Given the description of an element on the screen output the (x, y) to click on. 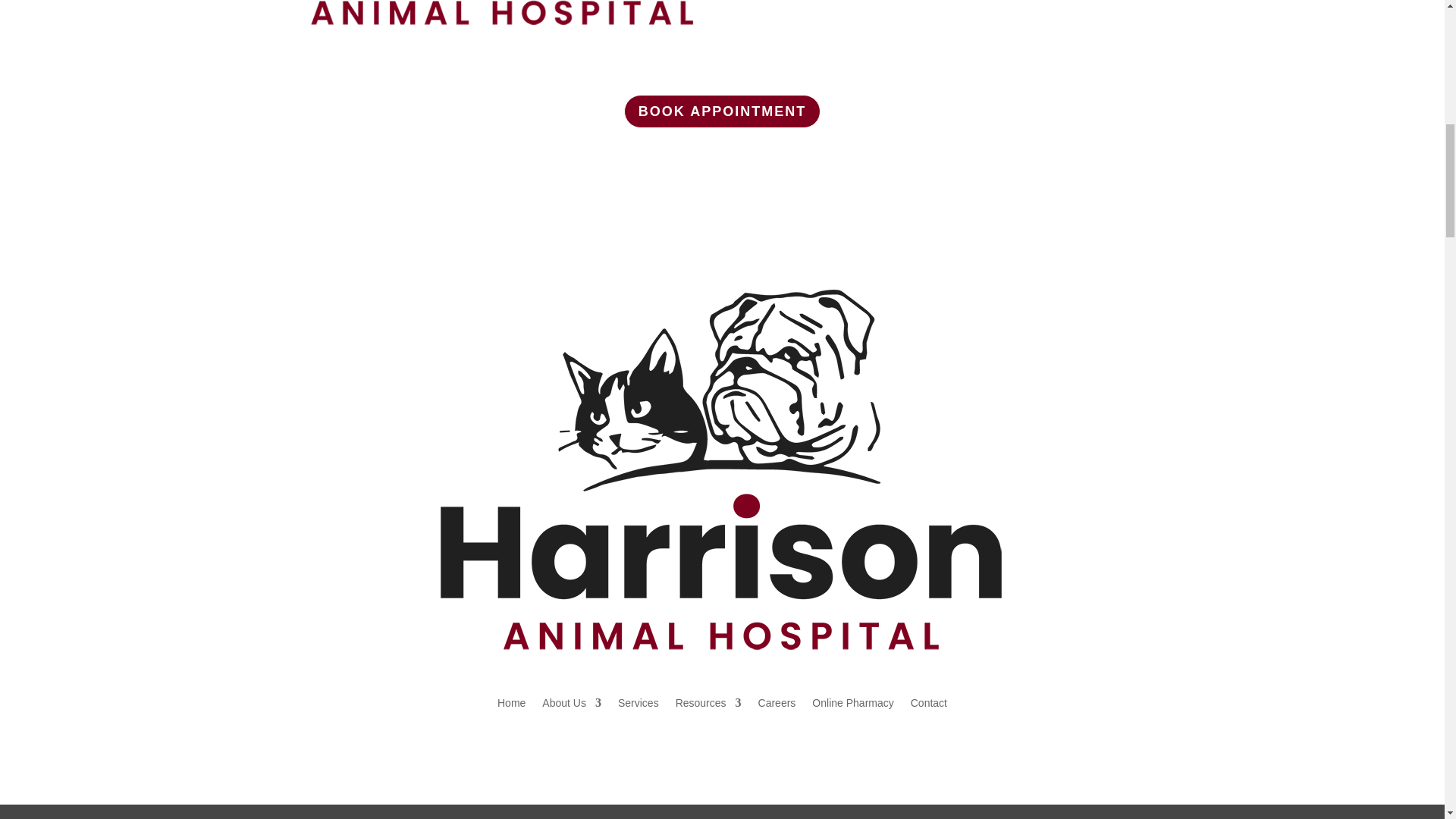
Resources (708, 703)
BOOK APPOINTMENT (722, 111)
About Us (571, 703)
